Given the description of an element on the screen output the (x, y) to click on. 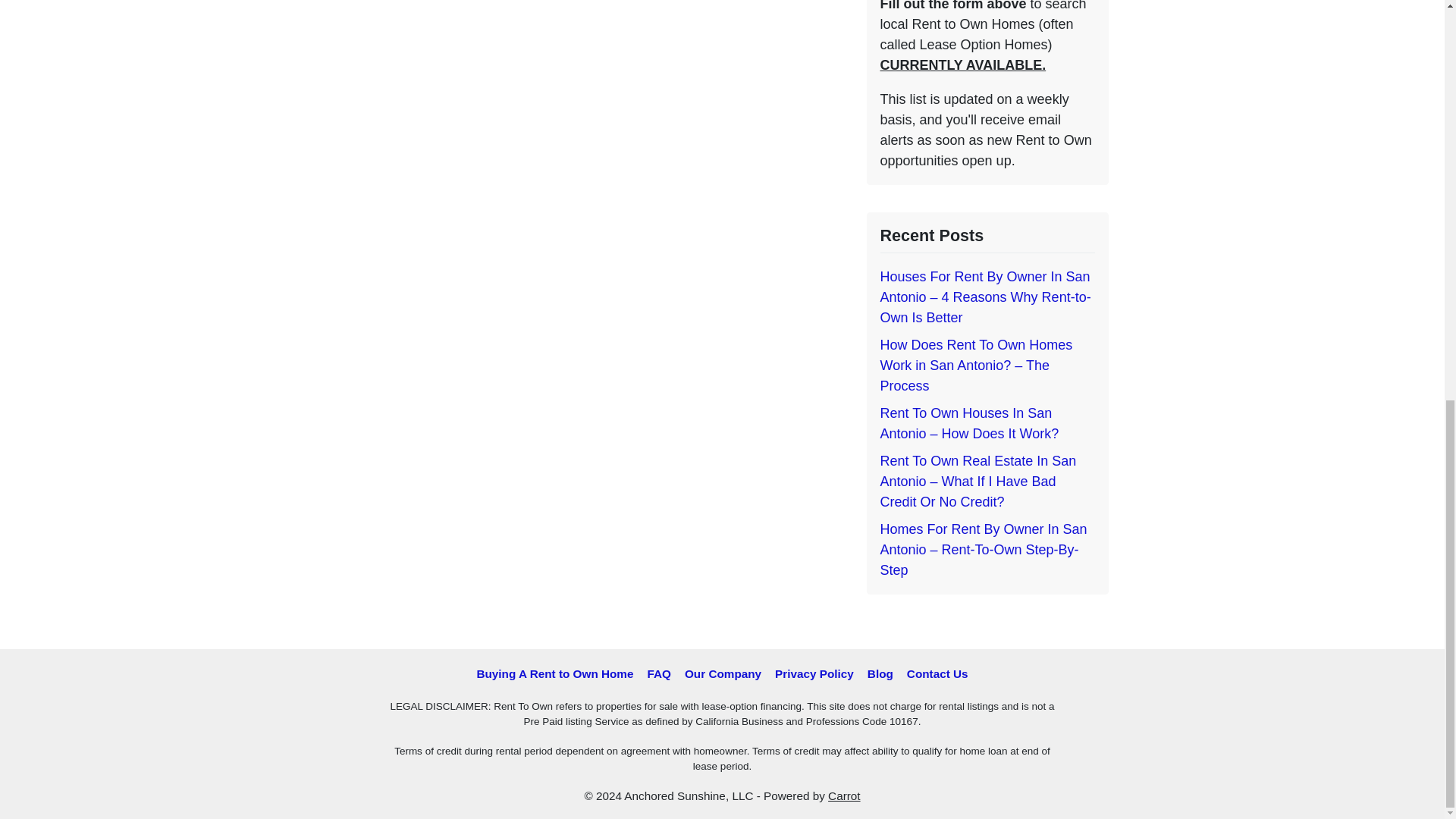
Contact Us (937, 673)
Blog (879, 673)
FAQ (658, 673)
Buying A Rent to Own Home (554, 673)
Our Company (723, 673)
Privacy Policy (814, 673)
Carrot (844, 795)
